Given the description of an element on the screen output the (x, y) to click on. 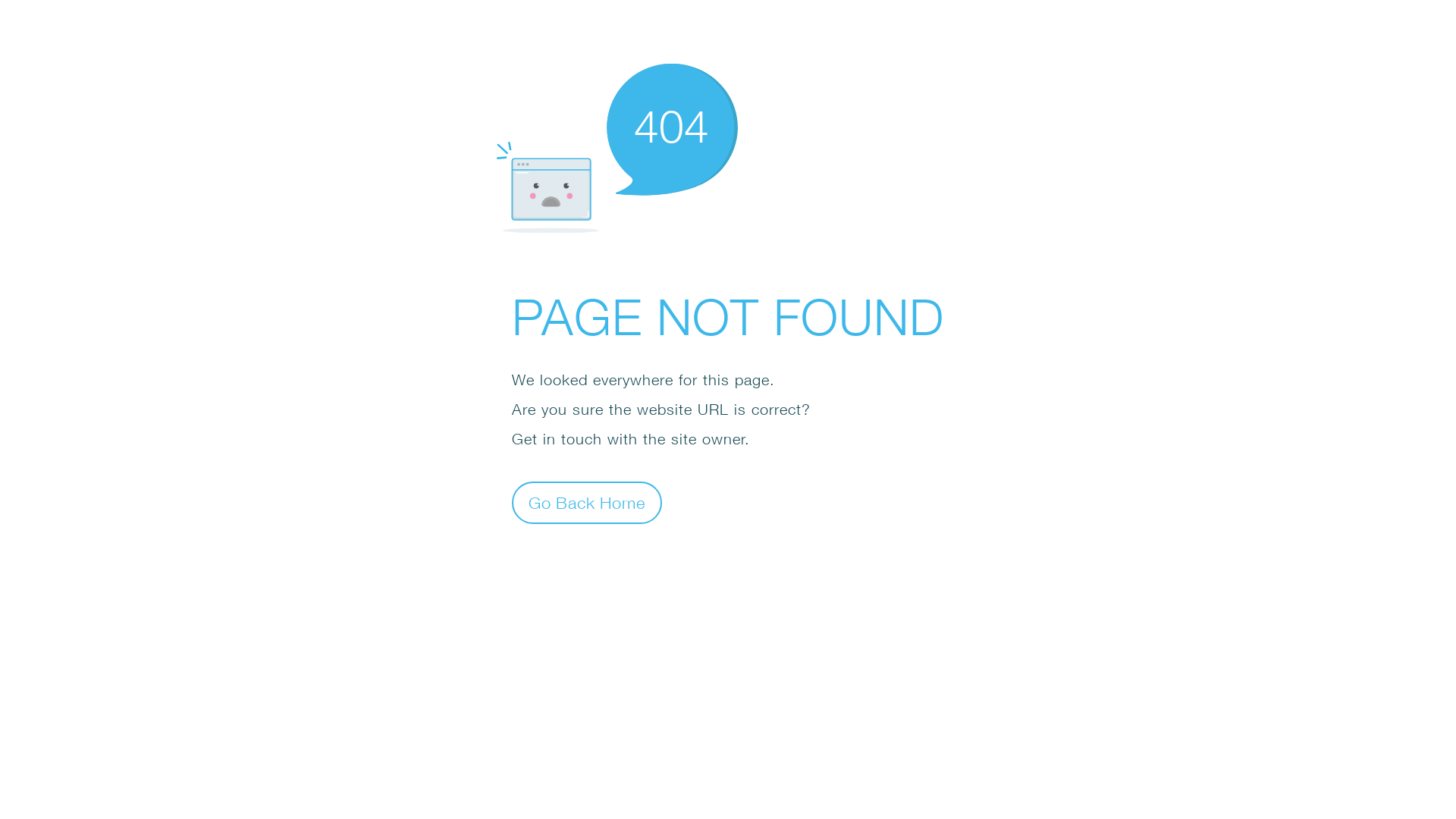
Go Back Home Element type: text (586, 502)
